Given the description of an element on the screen output the (x, y) to click on. 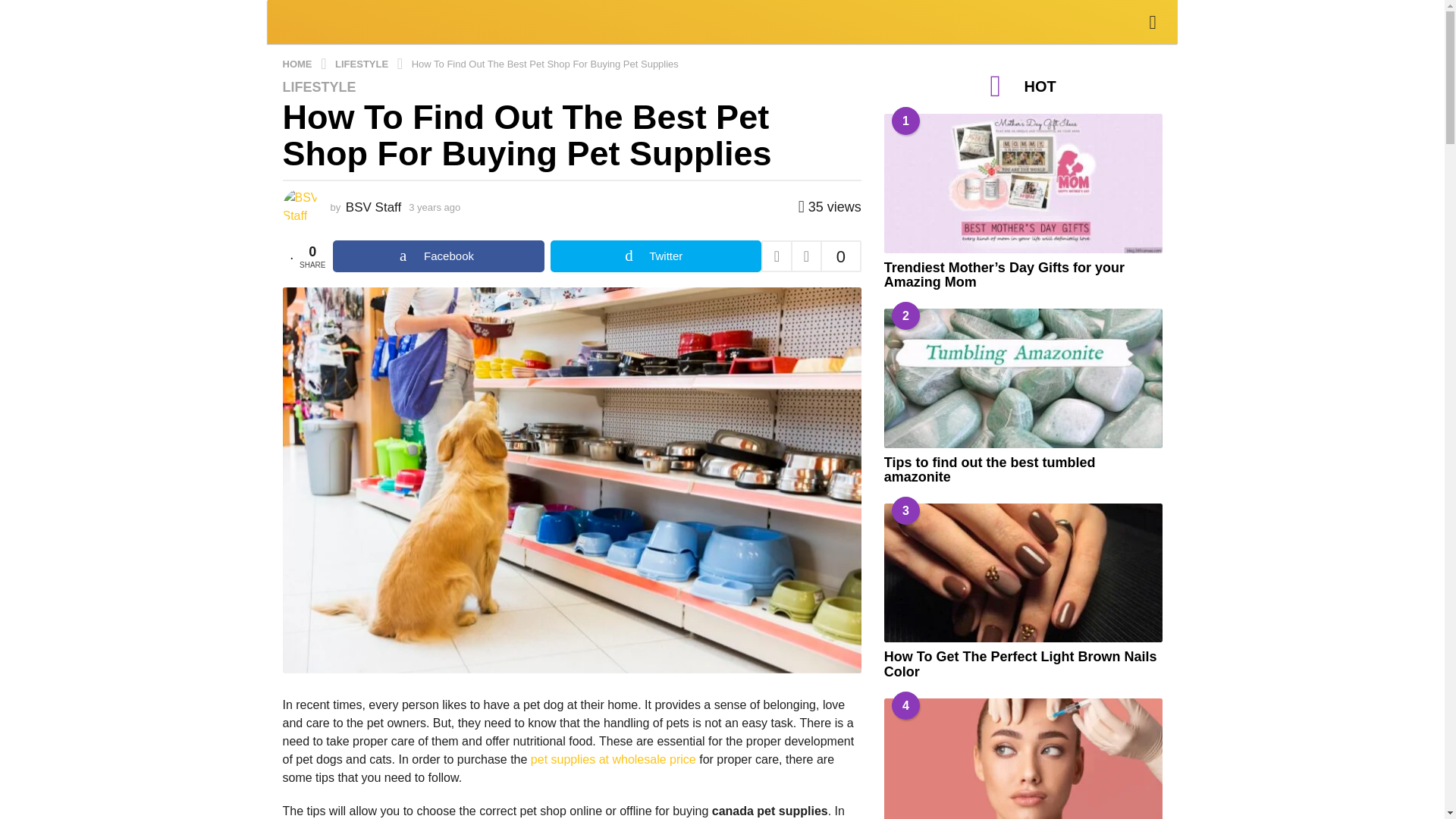
LIFESTYLE (362, 62)
Facebook (438, 255)
Twitter (655, 255)
BSV Staff (373, 206)
LIFESTYLE (318, 87)
Share on Twitter (655, 255)
HOME (298, 62)
pet supplies at wholesale price (613, 758)
Share on Facebook (438, 255)
How To Find Out The Best Pet Shop For Buying Pet Supplies (545, 62)
